Given the description of an element on the screen output the (x, y) to click on. 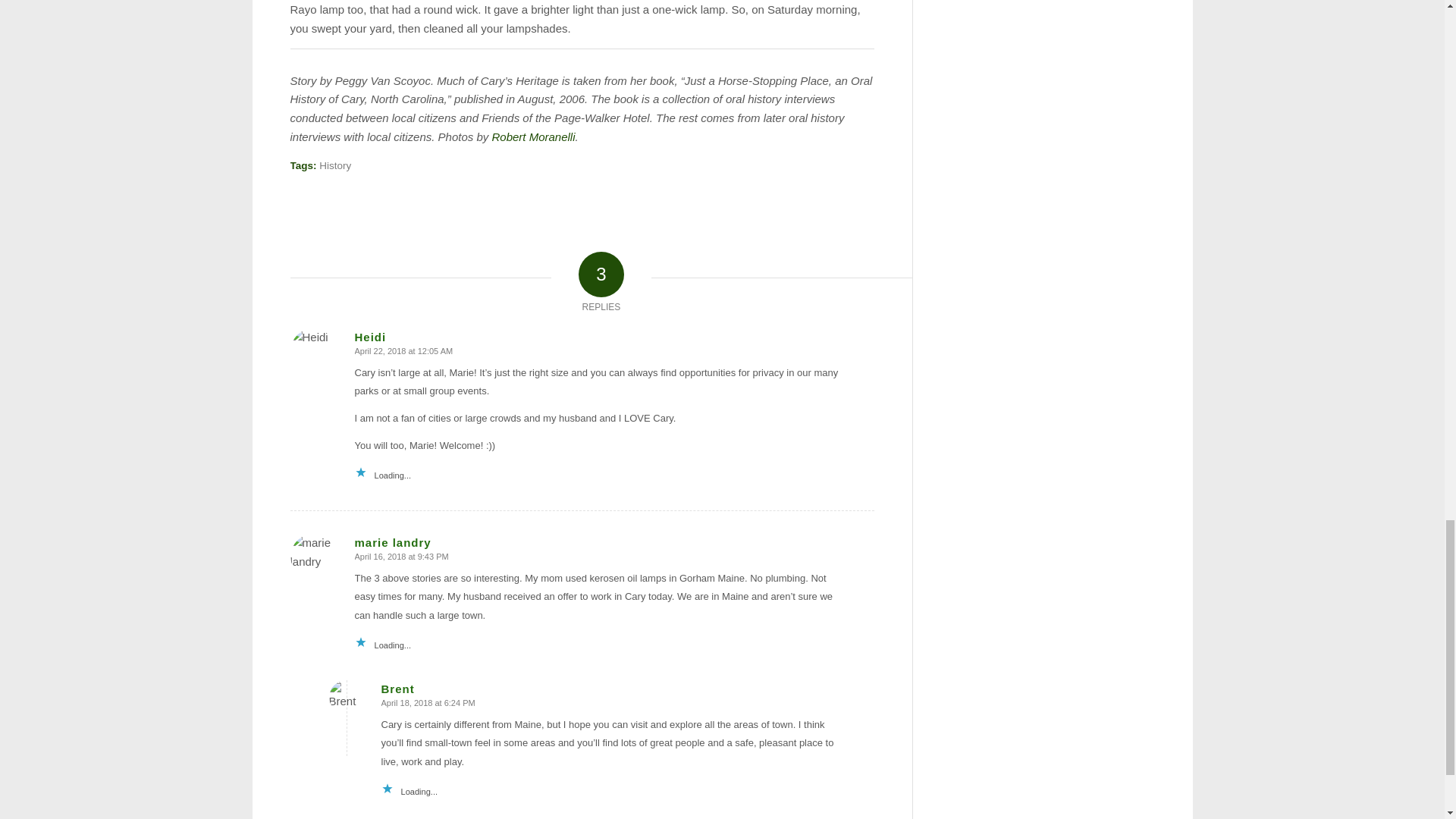
History (334, 165)
April 22, 2018 at 12:05 AM (403, 350)
Robert Moranelli (533, 136)
April 16, 2018 at 9:43 PM (401, 556)
